Given the description of an element on the screen output the (x, y) to click on. 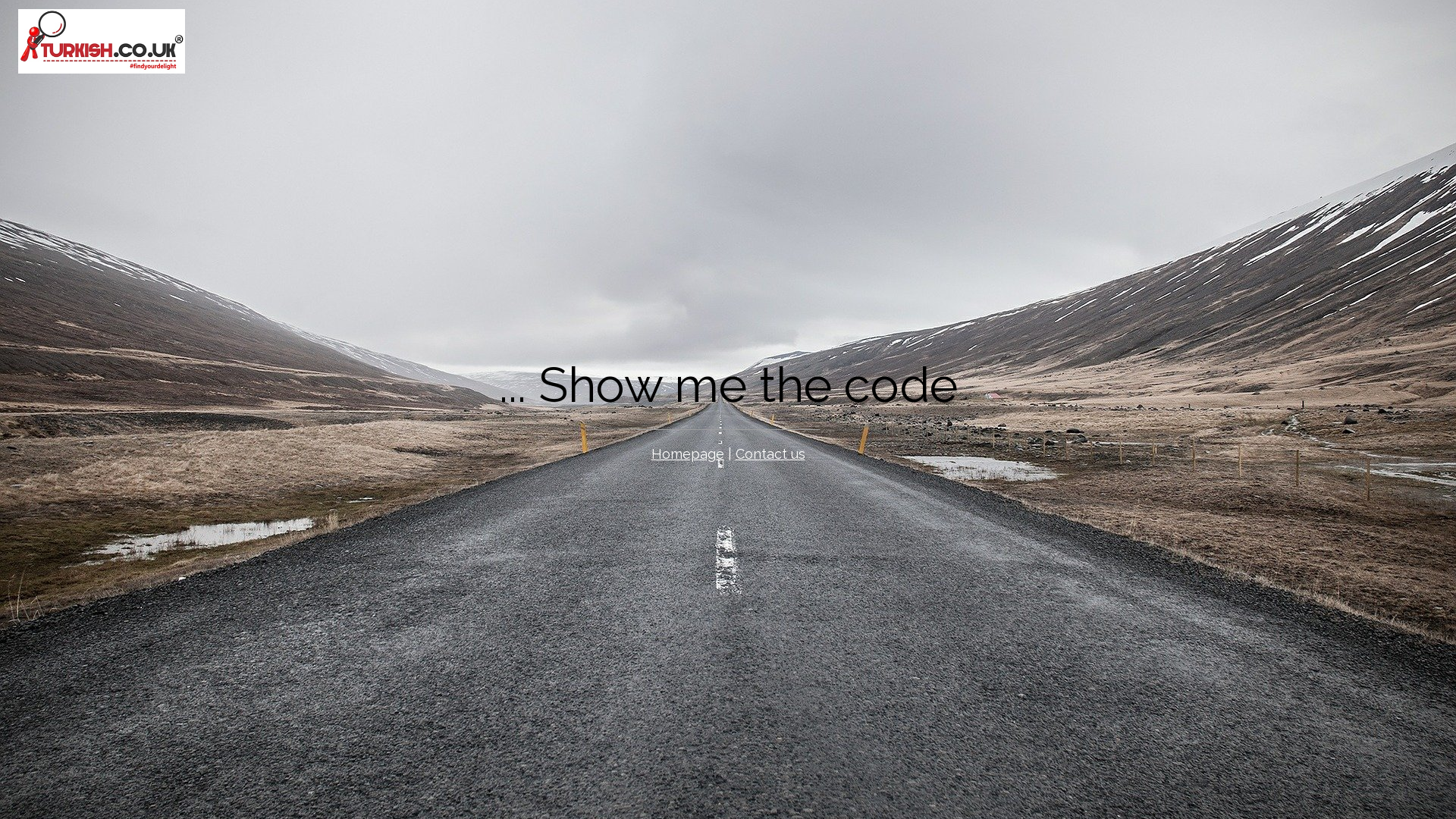
Homepage (686, 453)
Contact us (770, 453)
